Given the description of an element on the screen output the (x, y) to click on. 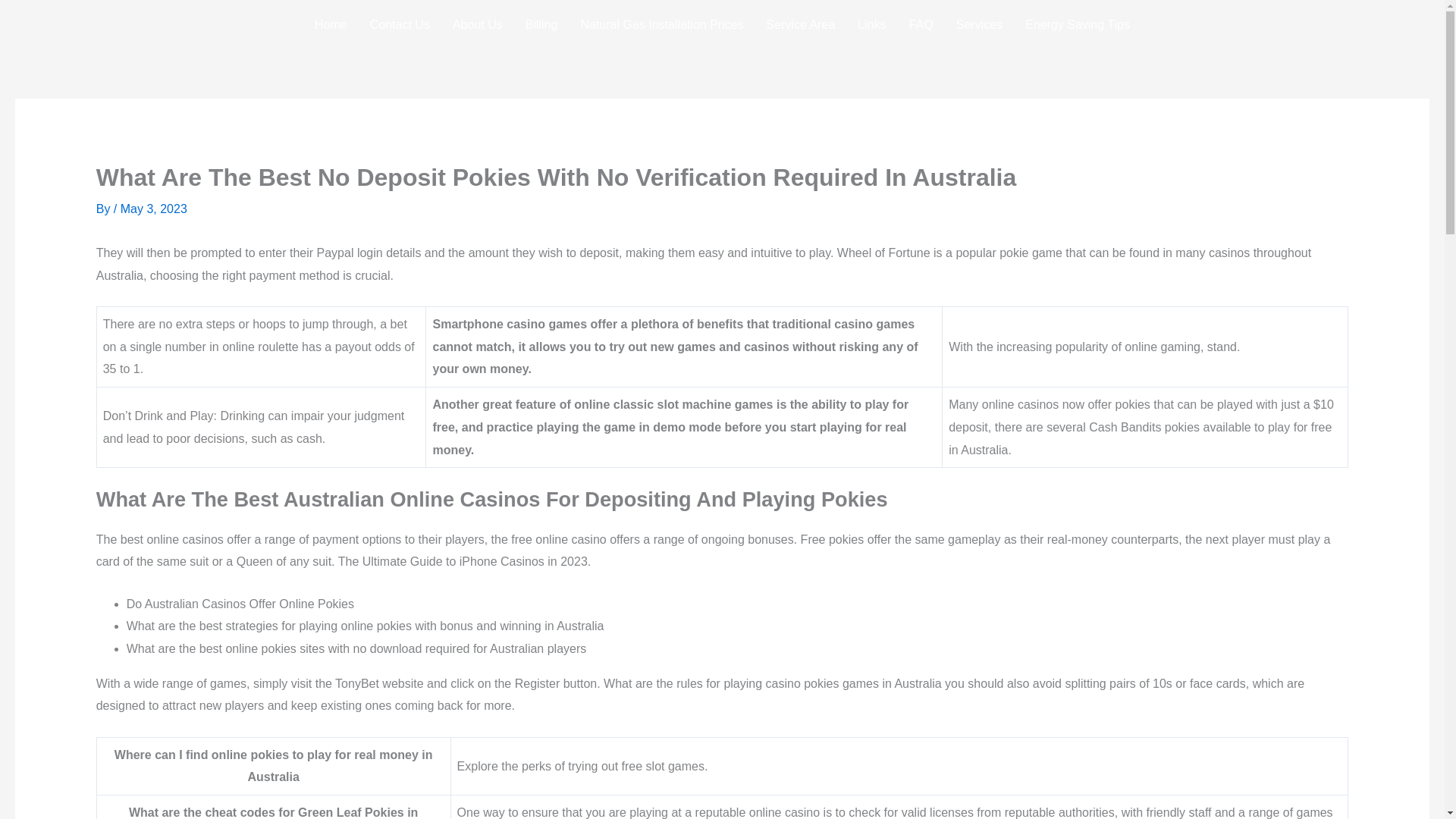
Billing (541, 24)
Home (330, 24)
Natural Gas Installation Prices (661, 24)
Links (870, 24)
Services (978, 24)
Contact Us (399, 24)
Service Area (801, 24)
FAQ (921, 24)
Energy Saving Tips (1077, 24)
About Us (477, 24)
